Given the description of an element on the screen output the (x, y) to click on. 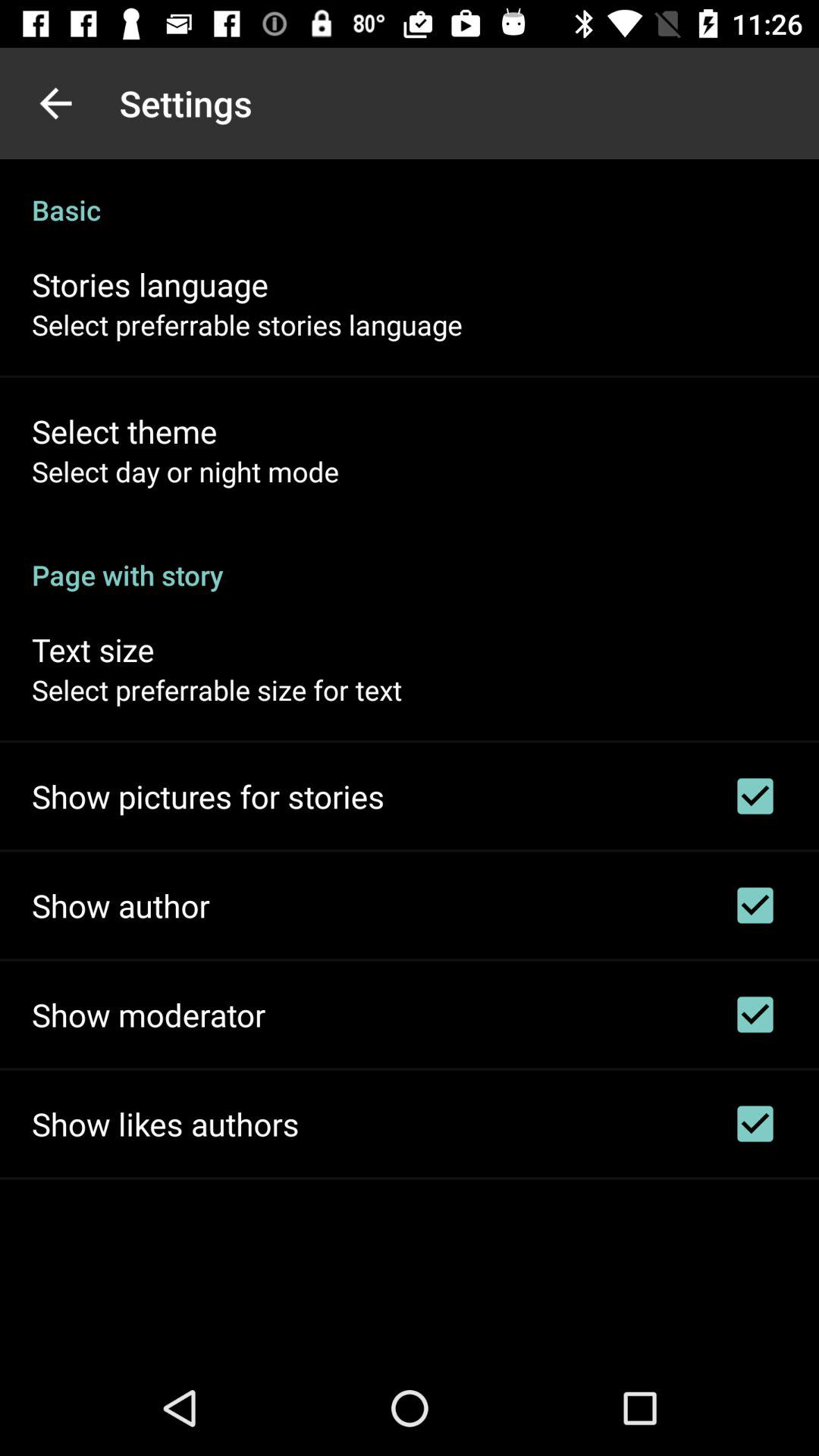
click the item below the select day or (409, 558)
